Given the description of an element on the screen output the (x, y) to click on. 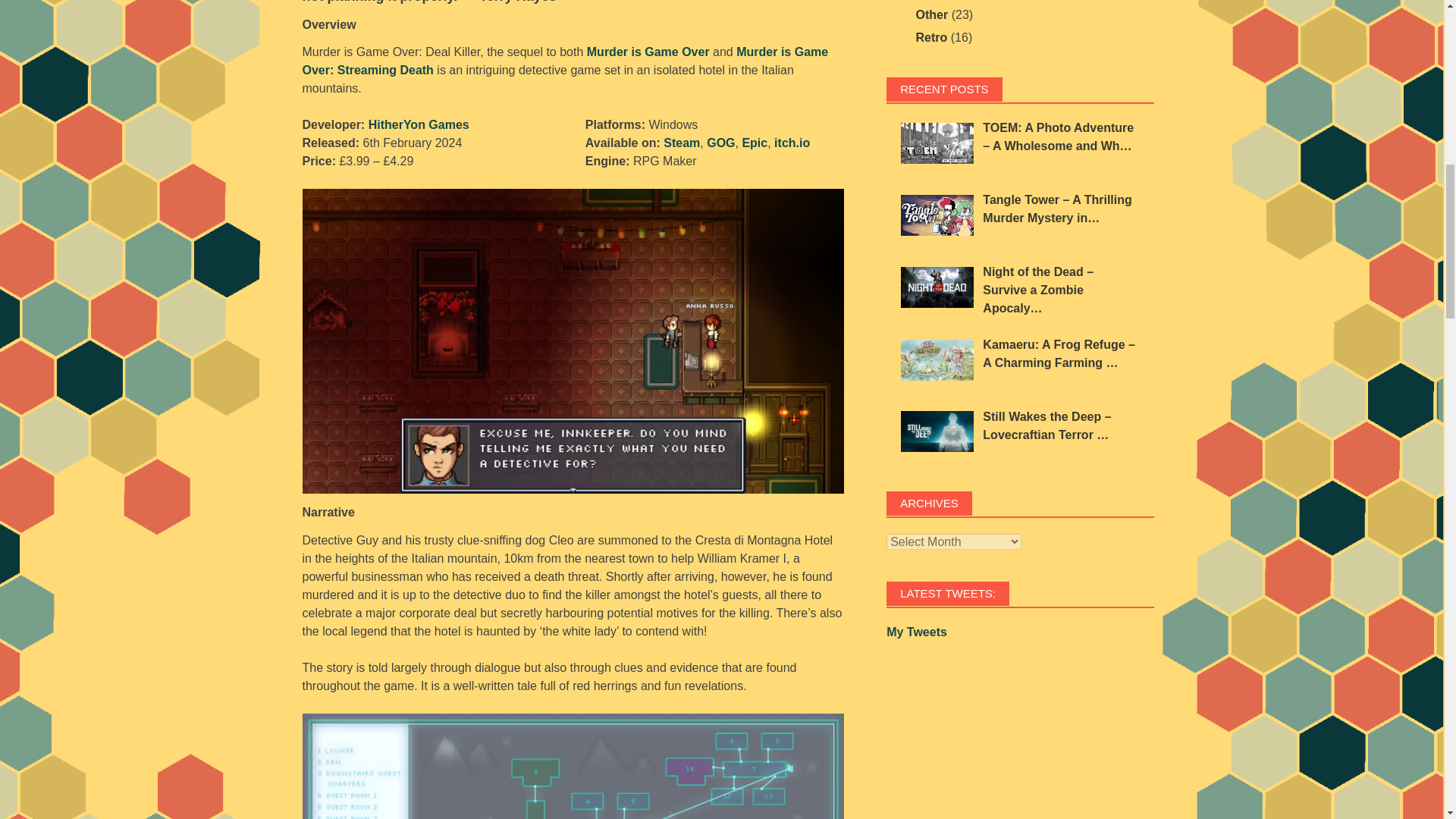
Murder is Game Over: Streaming Death (564, 60)
Steam (681, 142)
HitherYon Games (418, 124)
Murder is Game Over (648, 51)
Epic (754, 142)
GOG (720, 142)
itch.io (791, 142)
